Given the description of an element on the screen output the (x, y) to click on. 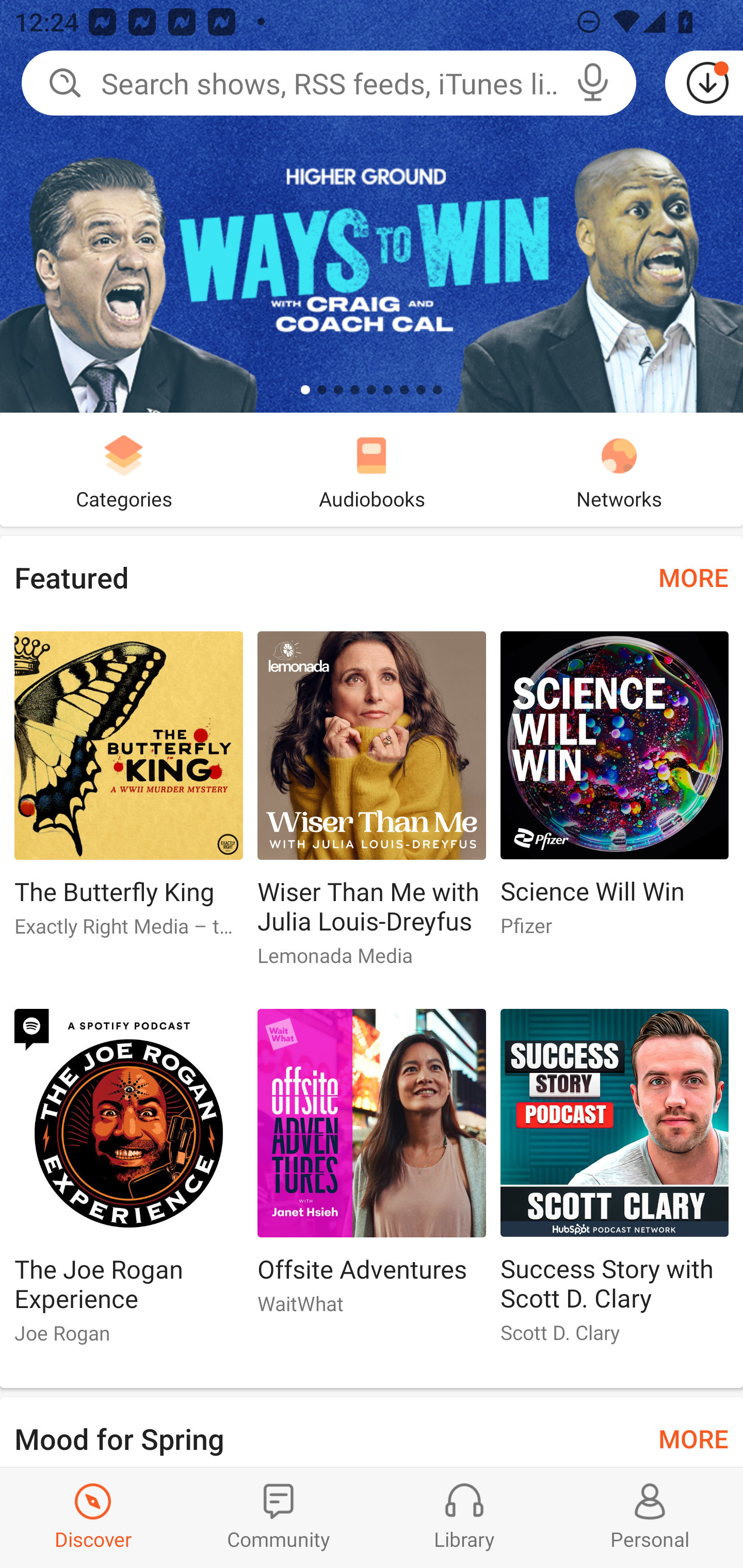
Ways To Win (371, 206)
Categories (123, 469)
Audiobooks (371, 469)
Networks (619, 469)
MORE (693, 576)
Science Will Win Science Will Win Pfizer (614, 792)
Offsite Adventures Offsite Adventures WaitWhat (371, 1169)
MORE (693, 1436)
Discover (92, 1517)
Community (278, 1517)
Library (464, 1517)
Profiles and Settings Personal (650, 1517)
